Given the description of an element on the screen output the (x, y) to click on. 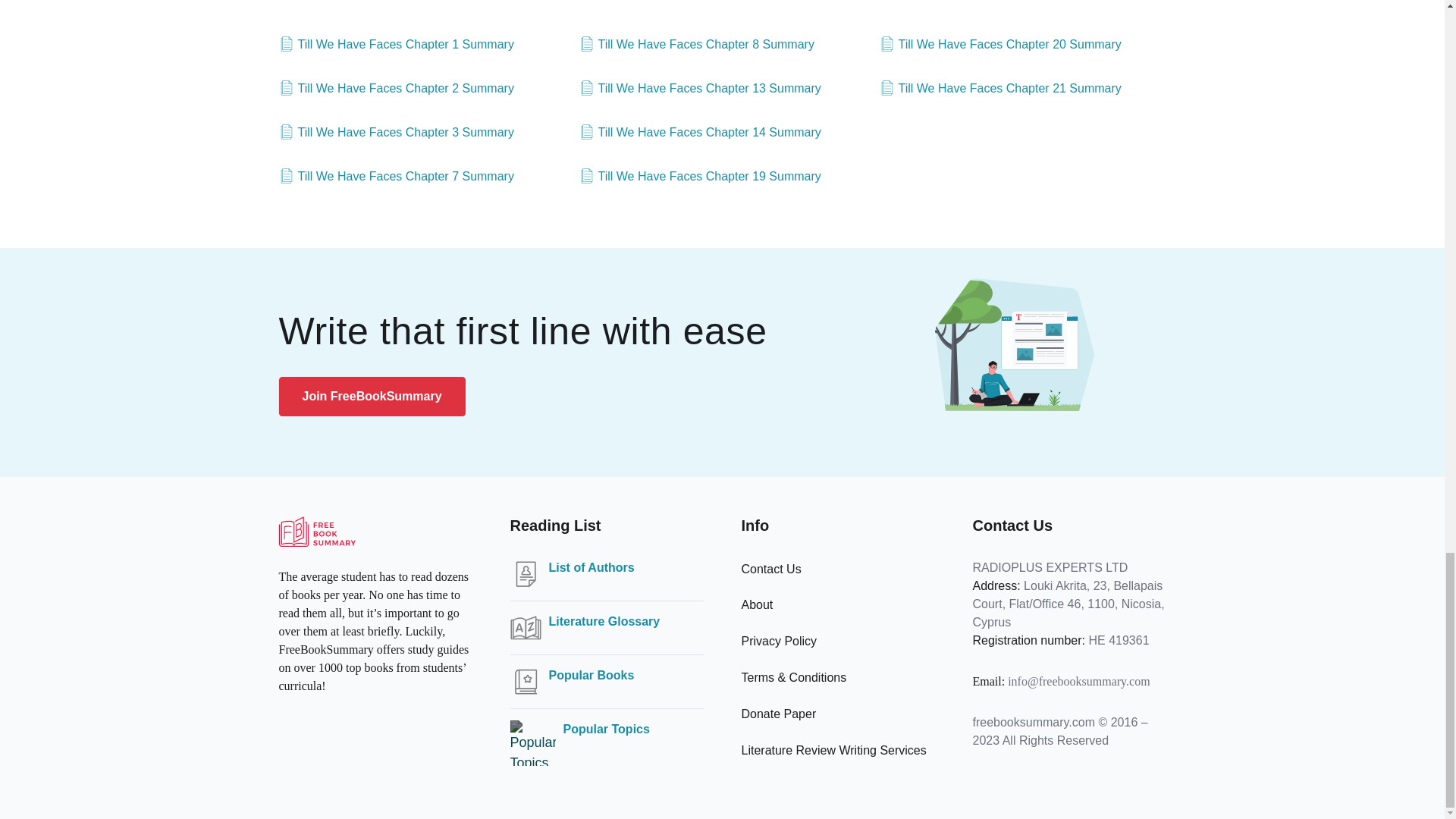
Literature Review Writing Services (833, 749)
Popular Topics (605, 729)
Till We Have Faces Chapter 1 Summary (396, 45)
Popular Books (591, 675)
Till We Have Faces Chapter 19 Summary (700, 176)
Contact Us (771, 568)
Till We Have Faces Chapter 7 Summary (396, 176)
About (757, 604)
List of Authors (591, 567)
Literature Glossary (604, 621)
Privacy Policy (778, 640)
Till We Have Faces Chapter 2 Summary (396, 88)
Till We Have Faces Chapter 3 Summary (396, 132)
Till We Have Faces Chapter 21 Summary (1000, 88)
Till We Have Faces Chapter 8 Summary (696, 45)
